Given the description of an element on the screen output the (x, y) to click on. 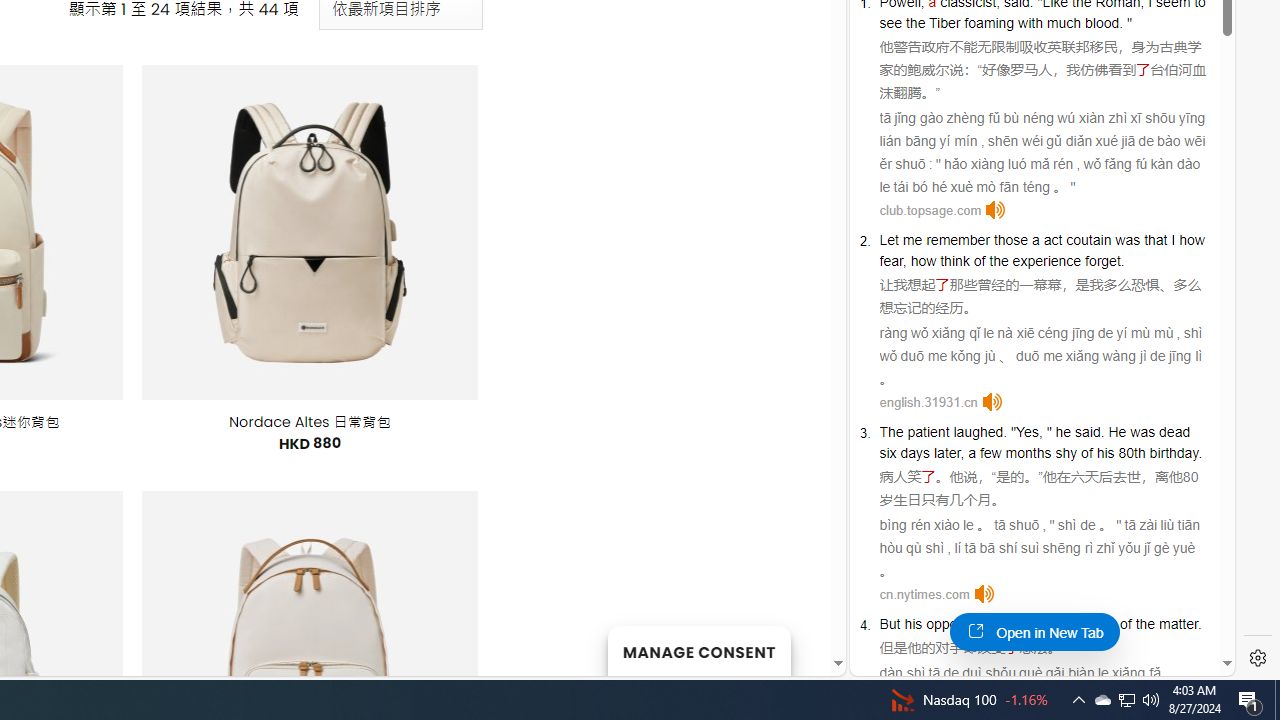
fear (890, 260)
he (1063, 431)
of (1125, 624)
foaming (989, 22)
